Given the description of an element on the screen output the (x, y) to click on. 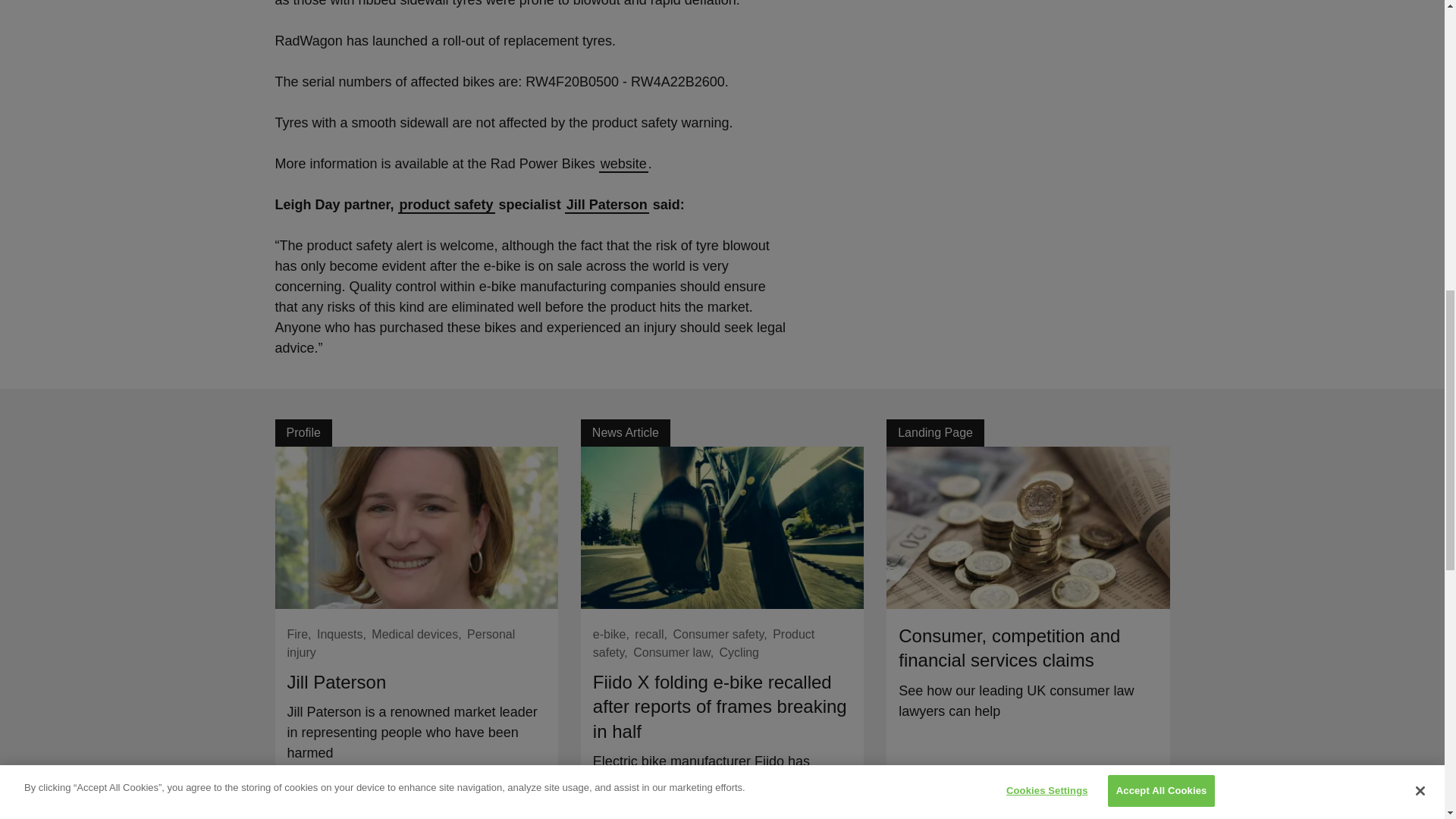
Jill Paterson (606, 205)
Rad Power (622, 164)
Product safety and consumer law (446, 205)
